Given the description of an element on the screen output the (x, y) to click on. 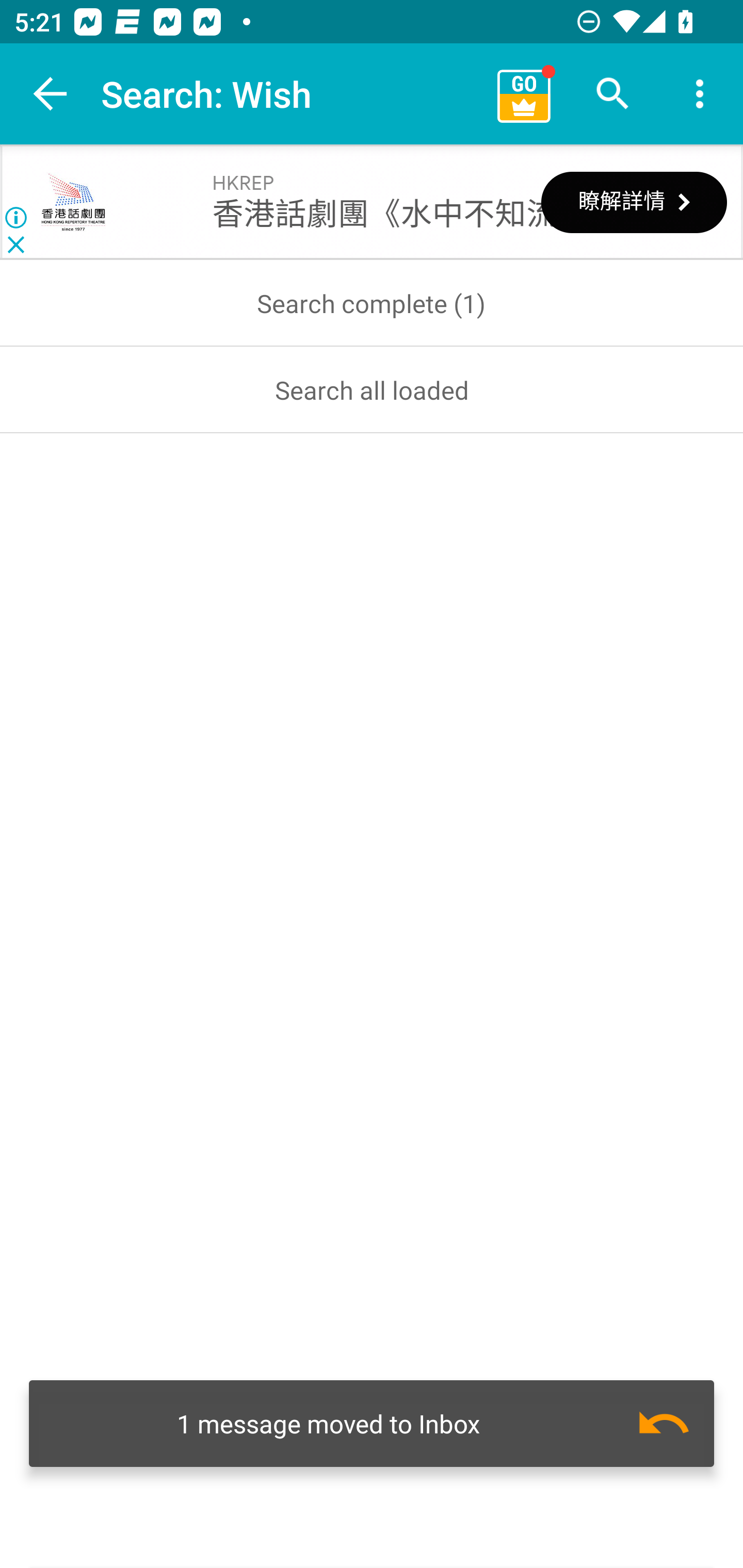
Navigate up (50, 93)
Search (612, 93)
More options (699, 93)
HKREP (73, 202)
瞭解詳情 (634, 202)
Search complete (1) (371, 303)
Search all loaded (371, 389)
Undo 1 message moved to Inbox (371, 1423)
